Given the description of an element on the screen output the (x, y) to click on. 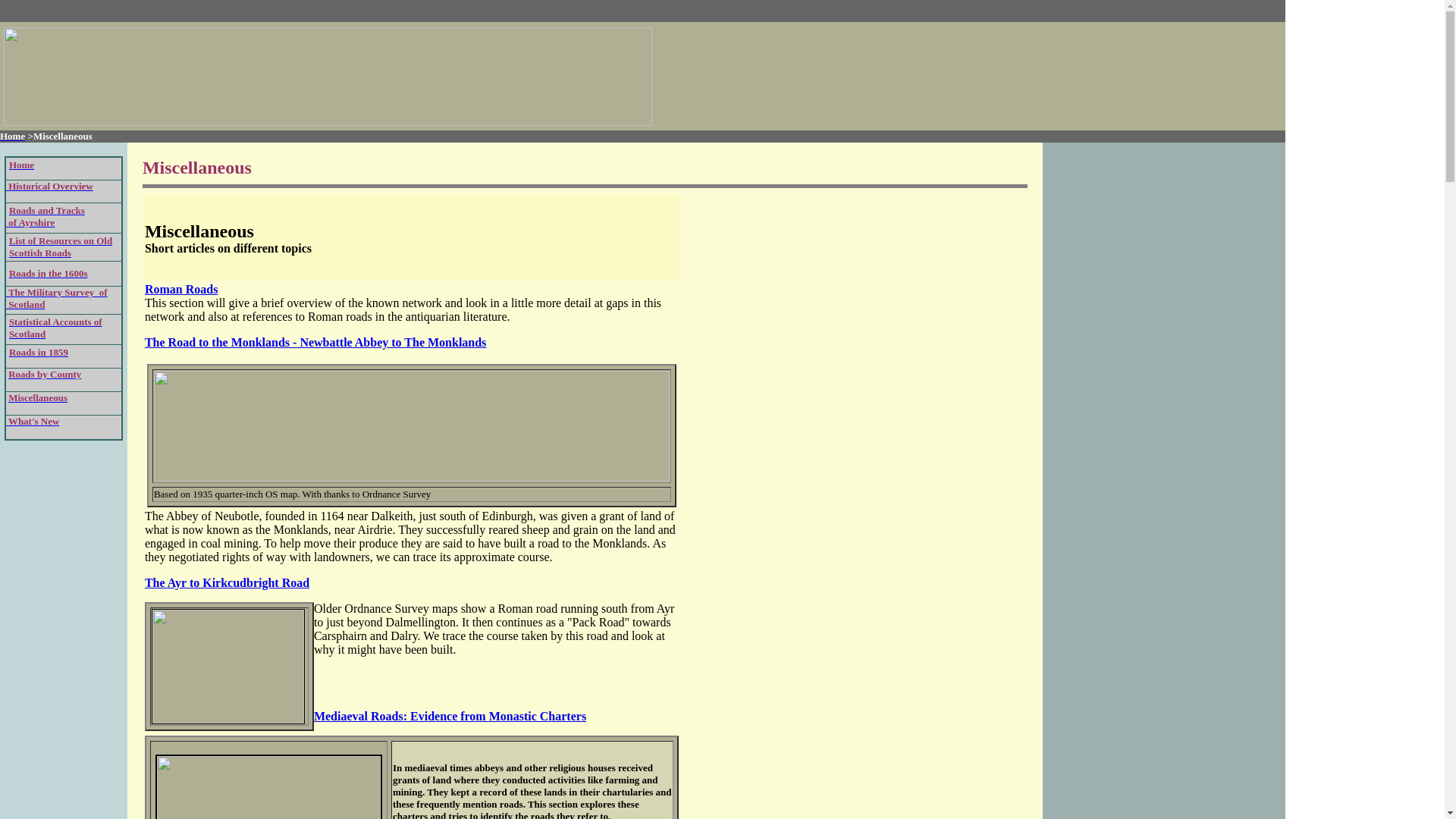
 The Military Survey  of  Scotland (56, 298)
 What's New (32, 420)
Roads in the 1600s (47, 272)
The Ayr to Kirkcudbright Road (226, 582)
Roads by County (44, 374)
Roads in 1859 (38, 351)
Statistical Accounts of Scotland (44, 216)
Miscellaneous (54, 327)
 Historical Overview (37, 396)
Home (49, 185)
Roman Roads (12, 135)
Mediaeval Roads: Evidence from Monastic Charters (180, 288)
The Road to the Monklands - Newbattle Abbey to The Monklands (450, 716)
Home (315, 341)
